Given the description of an element on the screen output the (x, y) to click on. 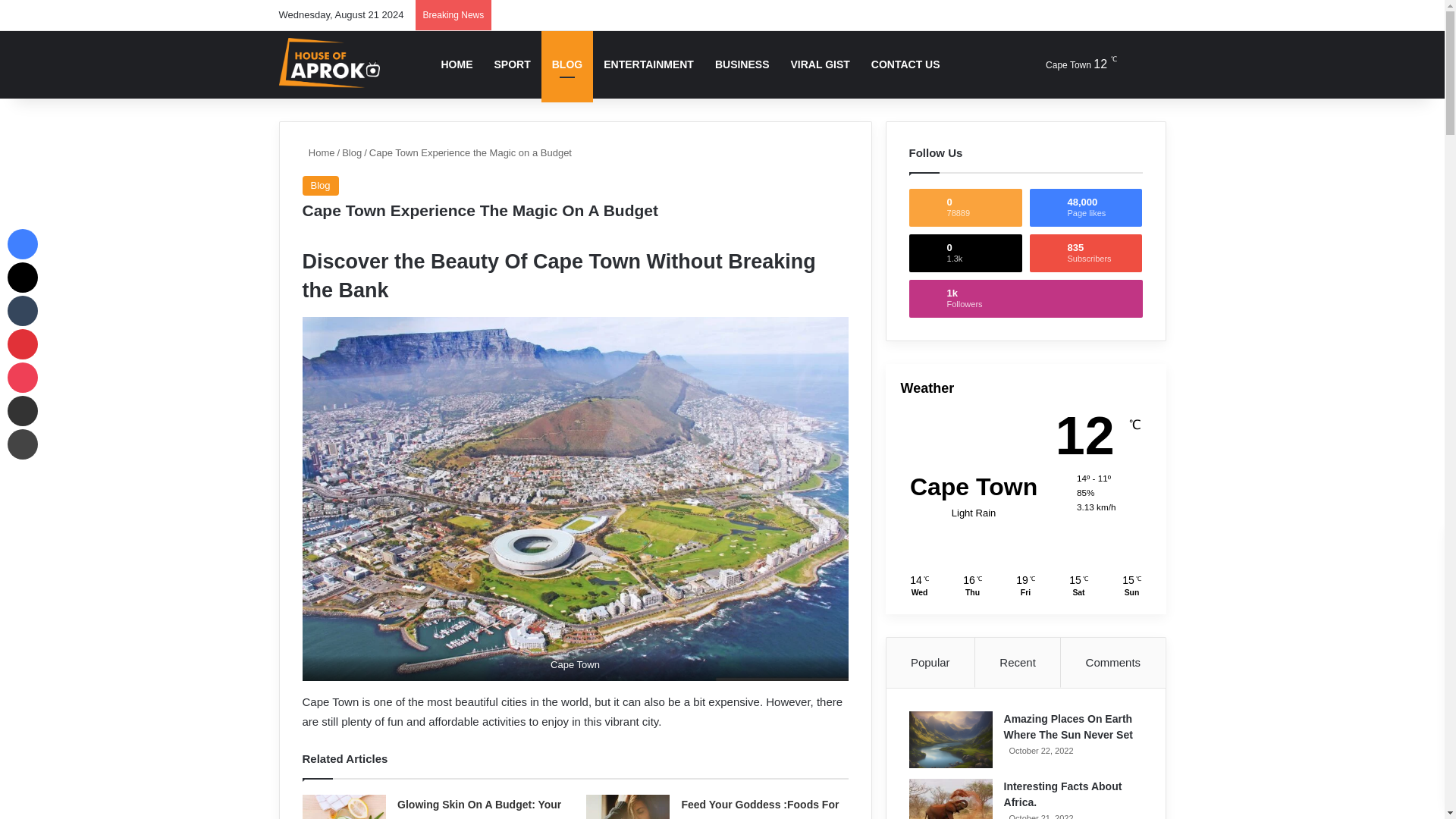
Light Rain (1066, 63)
Glowing Skin On A Budget: Your Guide To Affordable Skincare (478, 808)
BUSINESS (742, 64)
House of Aproko (329, 63)
CONTACT US (905, 64)
Blog (351, 152)
VIRAL GIST (819, 64)
Feed Your Goddess :Foods for a Happy and Healthy Vagina 8 (627, 806)
Blog (319, 185)
ENTERTAINMENT (648, 64)
